Given the description of an element on the screen output the (x, y) to click on. 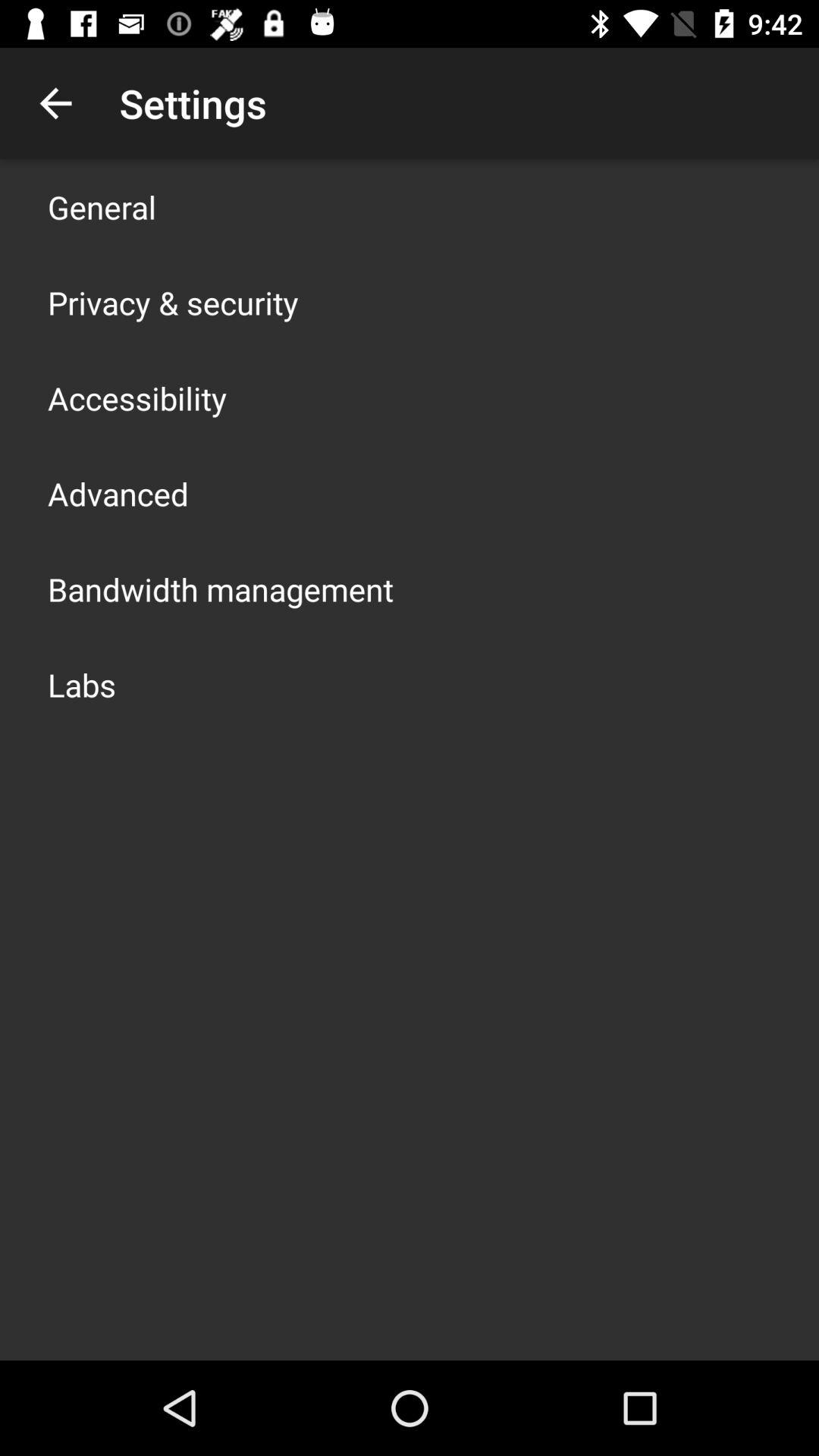
scroll to advanced icon (117, 493)
